Given the description of an element on the screen output the (x, y) to click on. 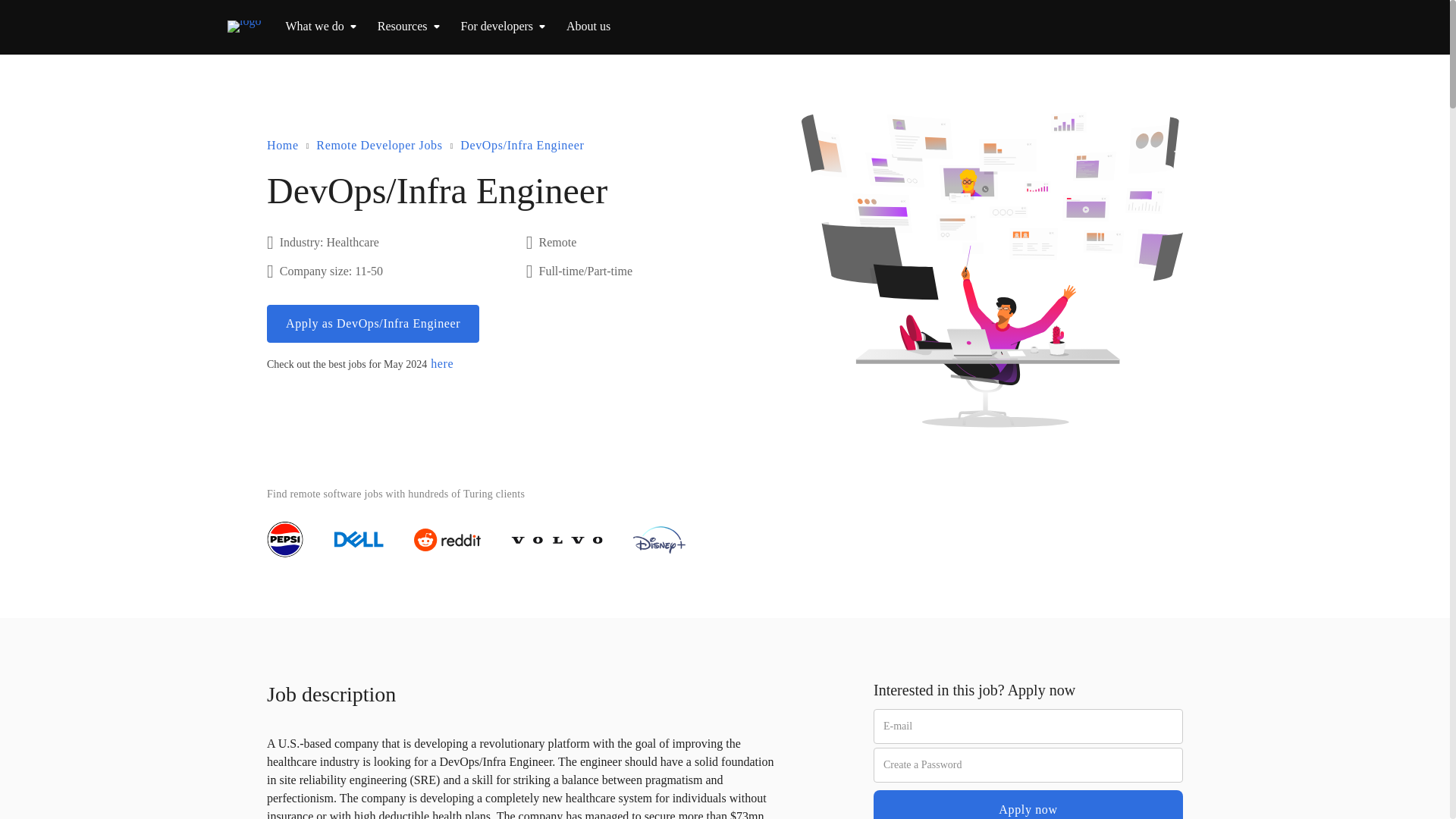
For developers (497, 26)
Apply now (1027, 804)
Remote Developer Jobs (378, 145)
Resources (402, 26)
here (441, 363)
About us (588, 26)
Home (282, 145)
Apply now (1027, 804)
What we do (314, 26)
